Given the description of an element on the screen output the (x, y) to click on. 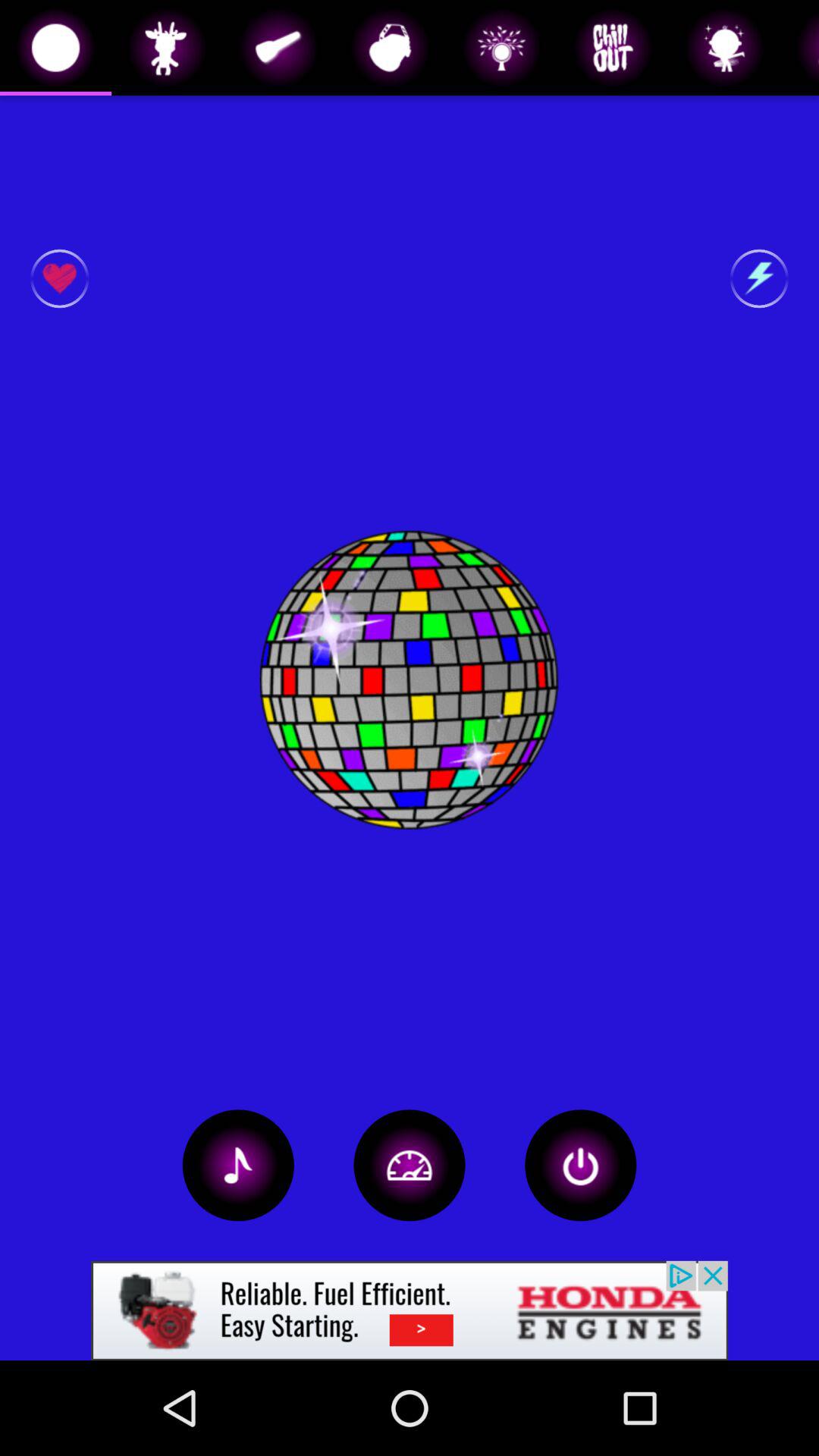
like button (59, 278)
